Given the description of an element on the screen output the (x, y) to click on. 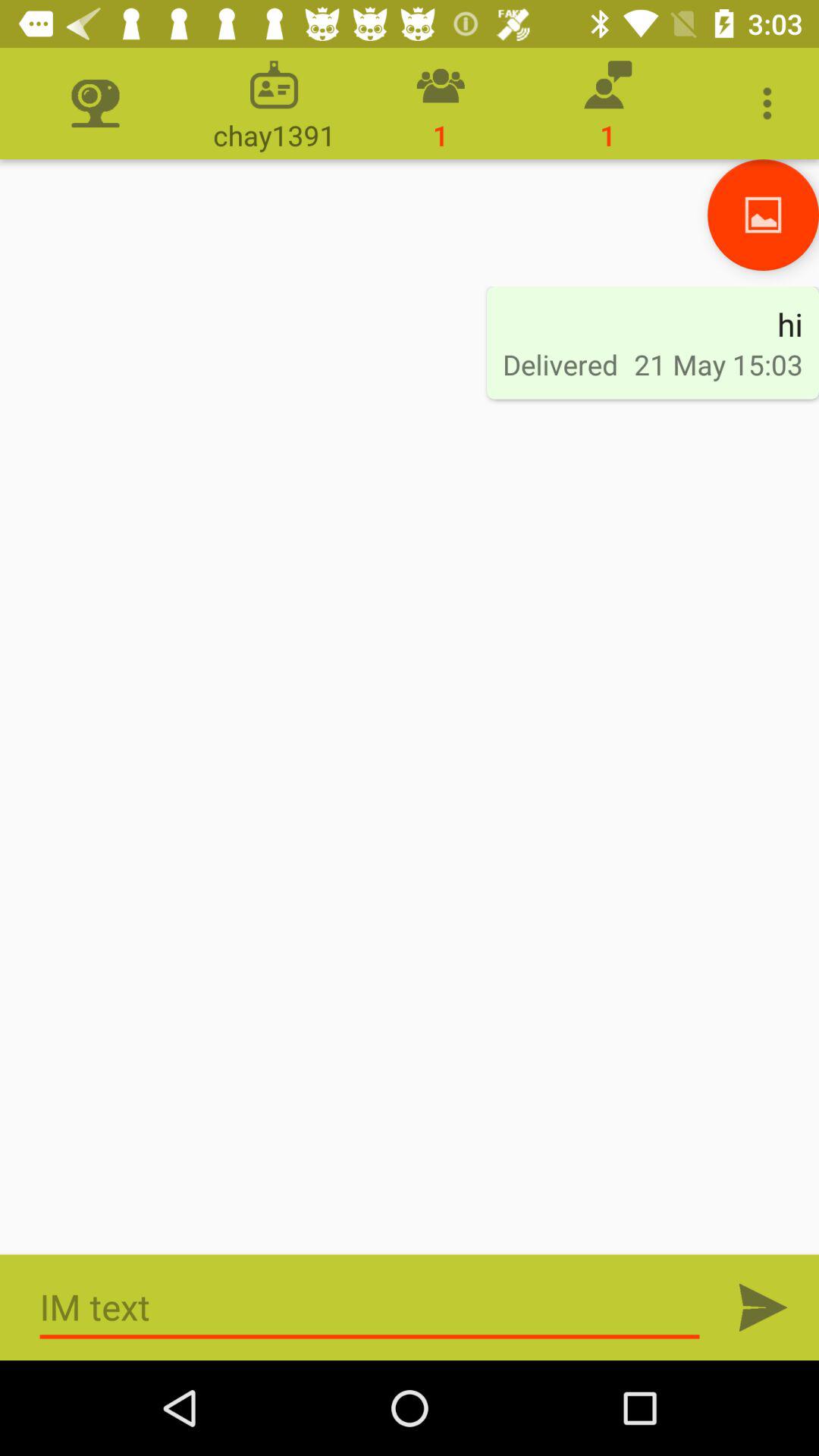
enter message (369, 1307)
